Given the description of an element on the screen output the (x, y) to click on. 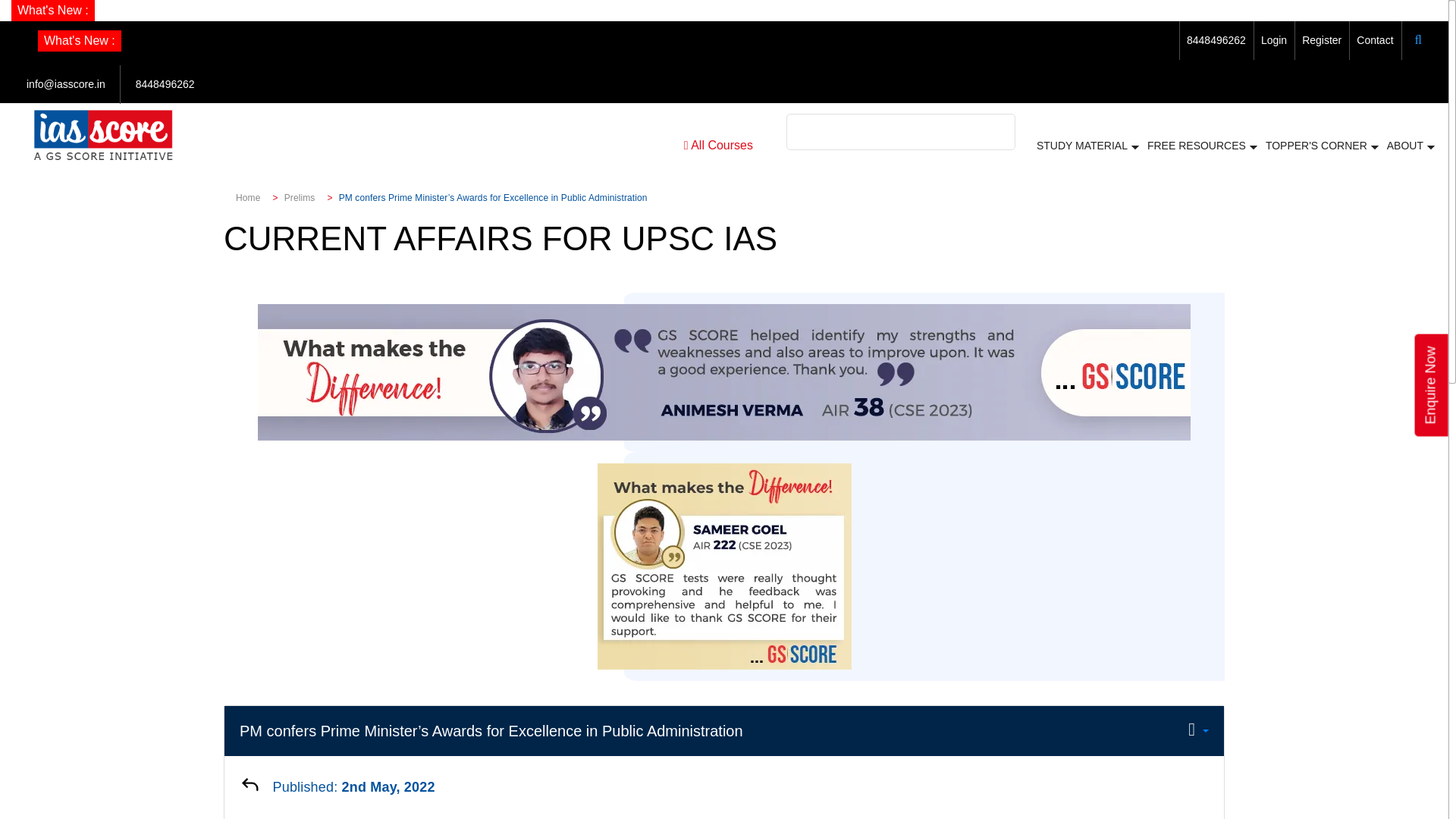
8448496262 (165, 83)
Contact (1374, 39)
8448496262 (1216, 39)
Login (1273, 39)
Register (1320, 39)
All Courses (718, 145)
